Given the description of an element on the screen output the (x, y) to click on. 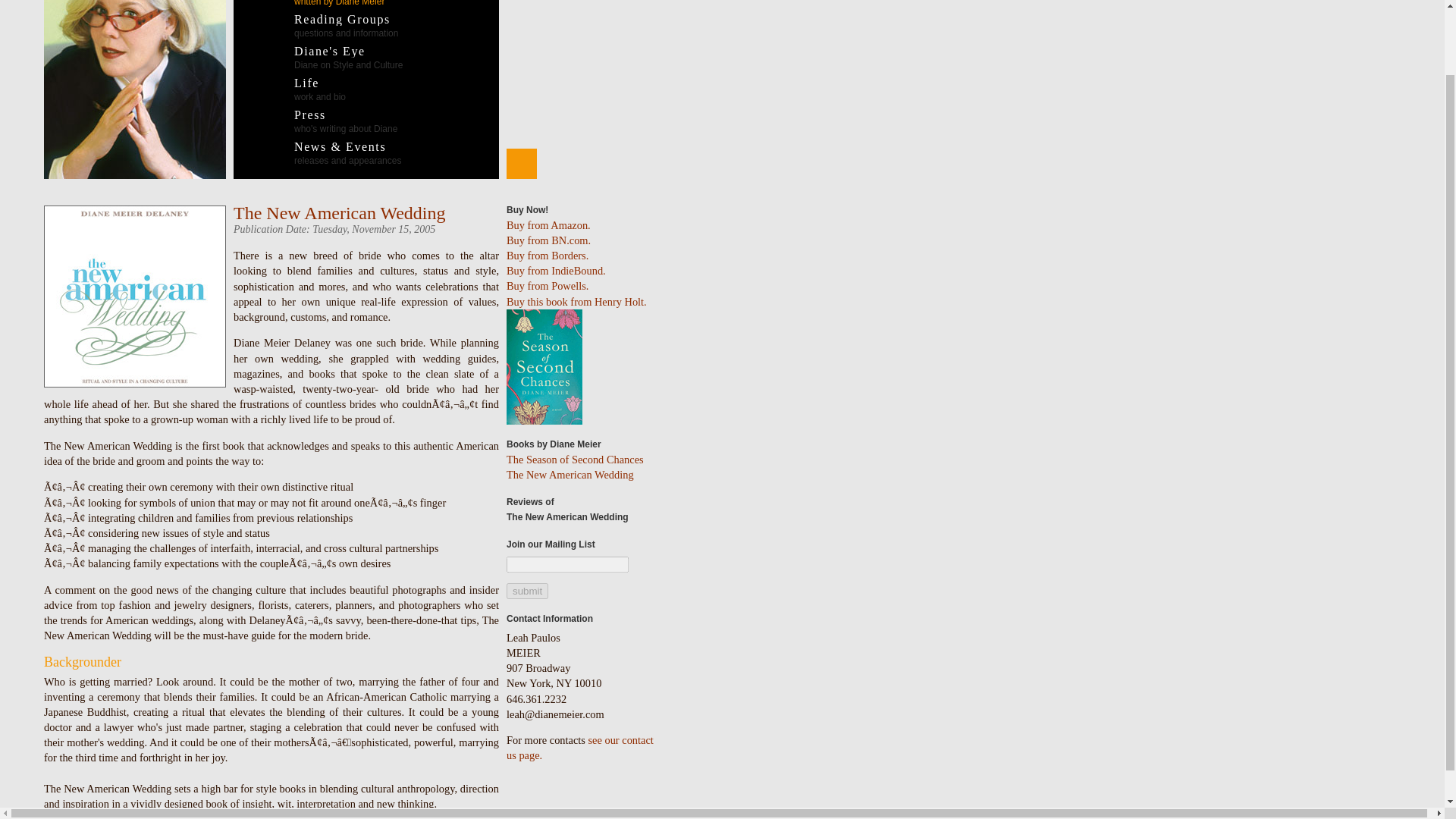
The New American Wedding (338, 212)
The New American Wedding (569, 474)
The Season of Second Chances (574, 459)
see our contact us page. (579, 747)
Buy from BN.com. (548, 240)
Buy from Powells. (323, 3)
Buy this book from Henry Holt. (547, 285)
Diane Meier (304, 89)
Buy from Borders. (576, 301)
submit (134, 89)
Buy from IndieBound. (547, 255)
